Given the description of an element on the screen output the (x, y) to click on. 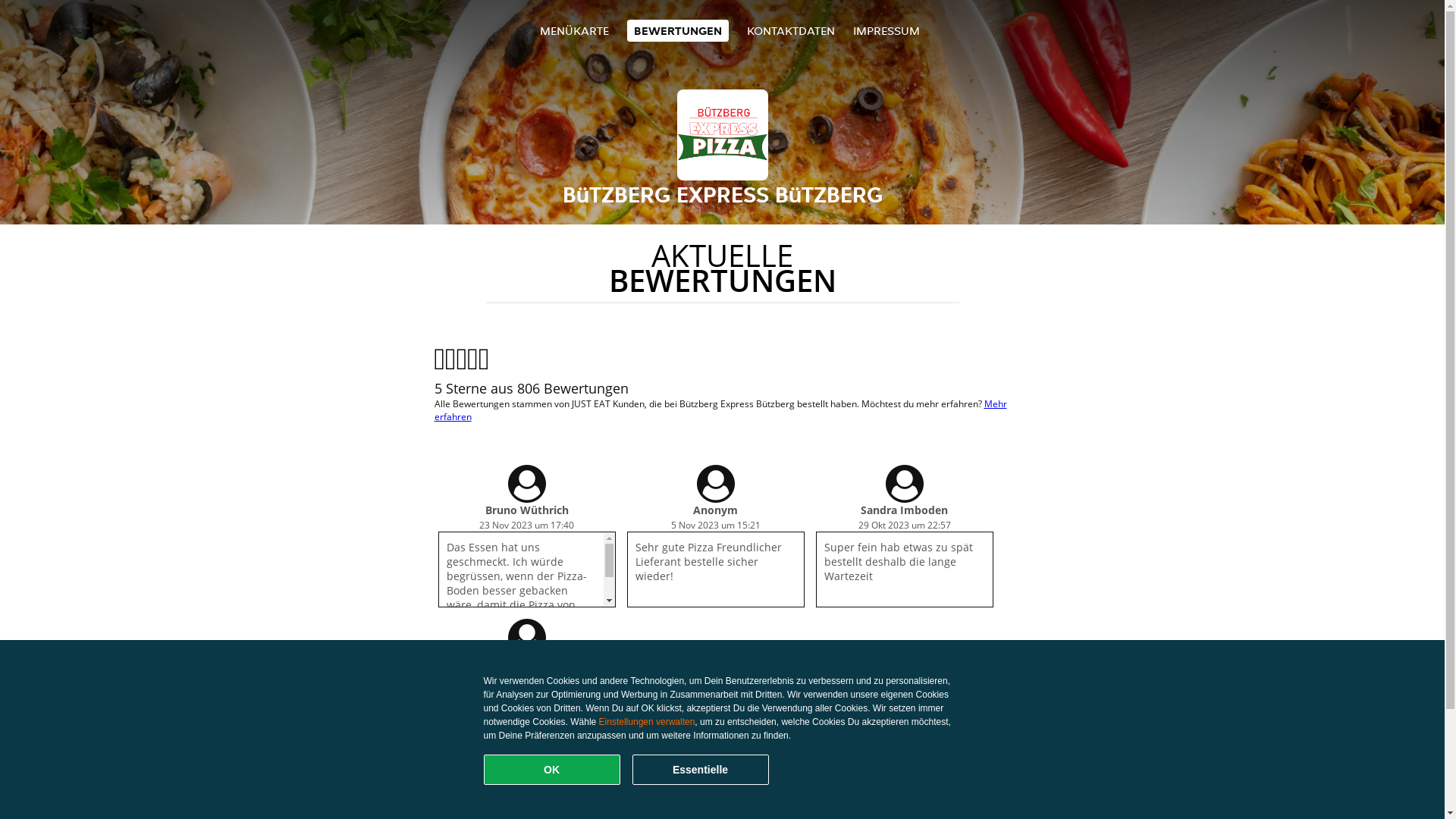
Mehr erfahren Element type: text (719, 410)
Essentielle Element type: text (700, 769)
BEWERTUNGEN Element type: text (677, 30)
KONTAKTDATEN Element type: text (790, 30)
Einstellungen verwalten Element type: text (647, 721)
IMPRESSUM Element type: text (886, 30)
OK Element type: text (551, 769)
